Given the description of an element on the screen output the (x, y) to click on. 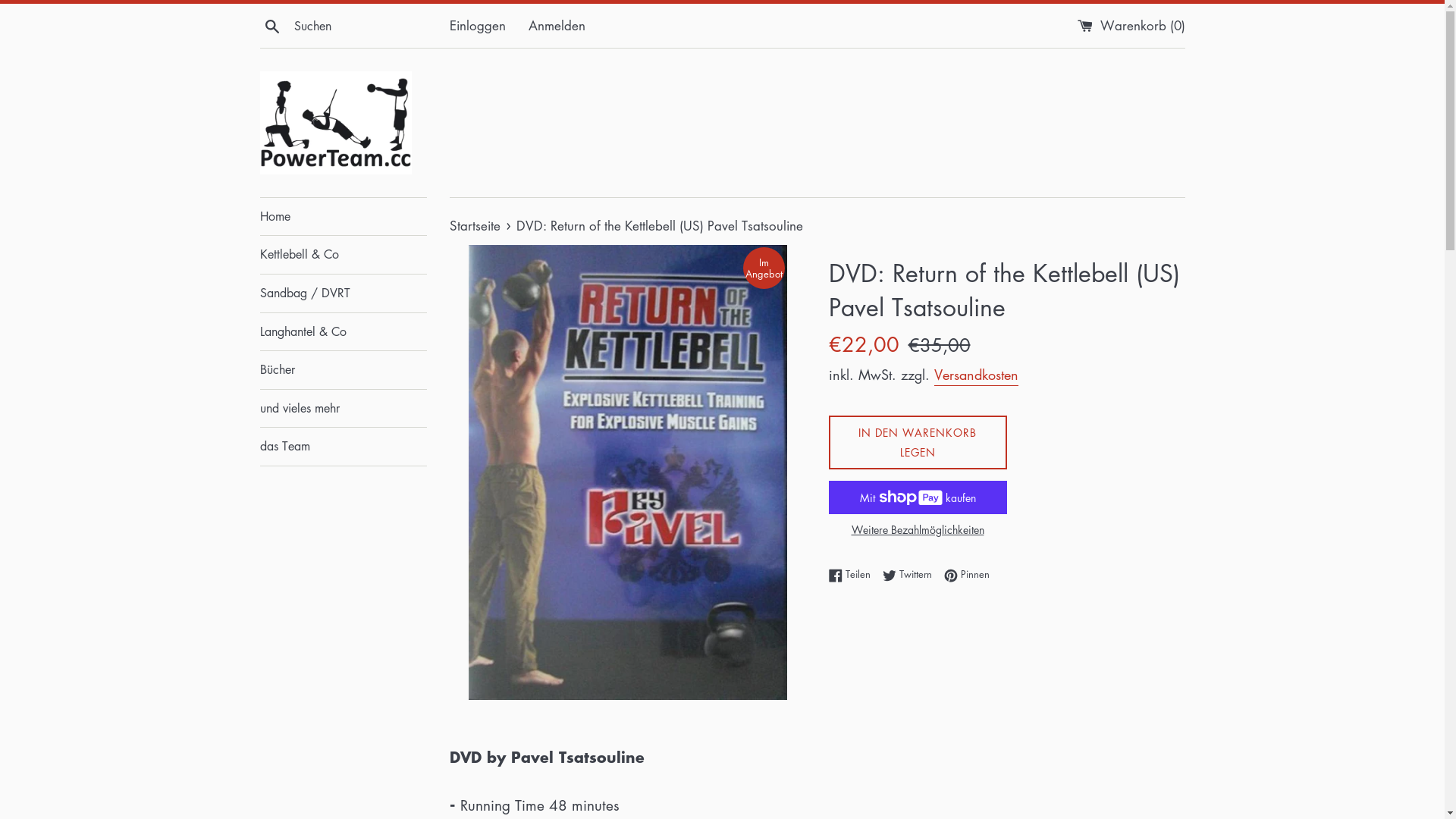
Suchen Element type: text (271, 24)
Twittern
Auf Twitter twittern Element type: text (910, 573)
Teilen
Auf Facebook teilen Element type: text (852, 573)
das Team Element type: text (342, 446)
Pinnen
Auf Pinterest pinnen Element type: text (965, 573)
Home Element type: text (342, 216)
IN DEN WARENKORB LEGEN Element type: text (917, 442)
Versandkosten Element type: text (976, 375)
Langhantel & Co Element type: text (342, 332)
Warenkorb (0) Element type: text (1130, 25)
und vieles mehr Element type: text (342, 408)
Startseite Element type: text (475, 225)
Sandbag / DVRT Element type: text (342, 293)
Einloggen Element type: text (476, 25)
Kettlebell & Co Element type: text (342, 254)
Anmelden Element type: text (555, 25)
